Given the description of an element on the screen output the (x, y) to click on. 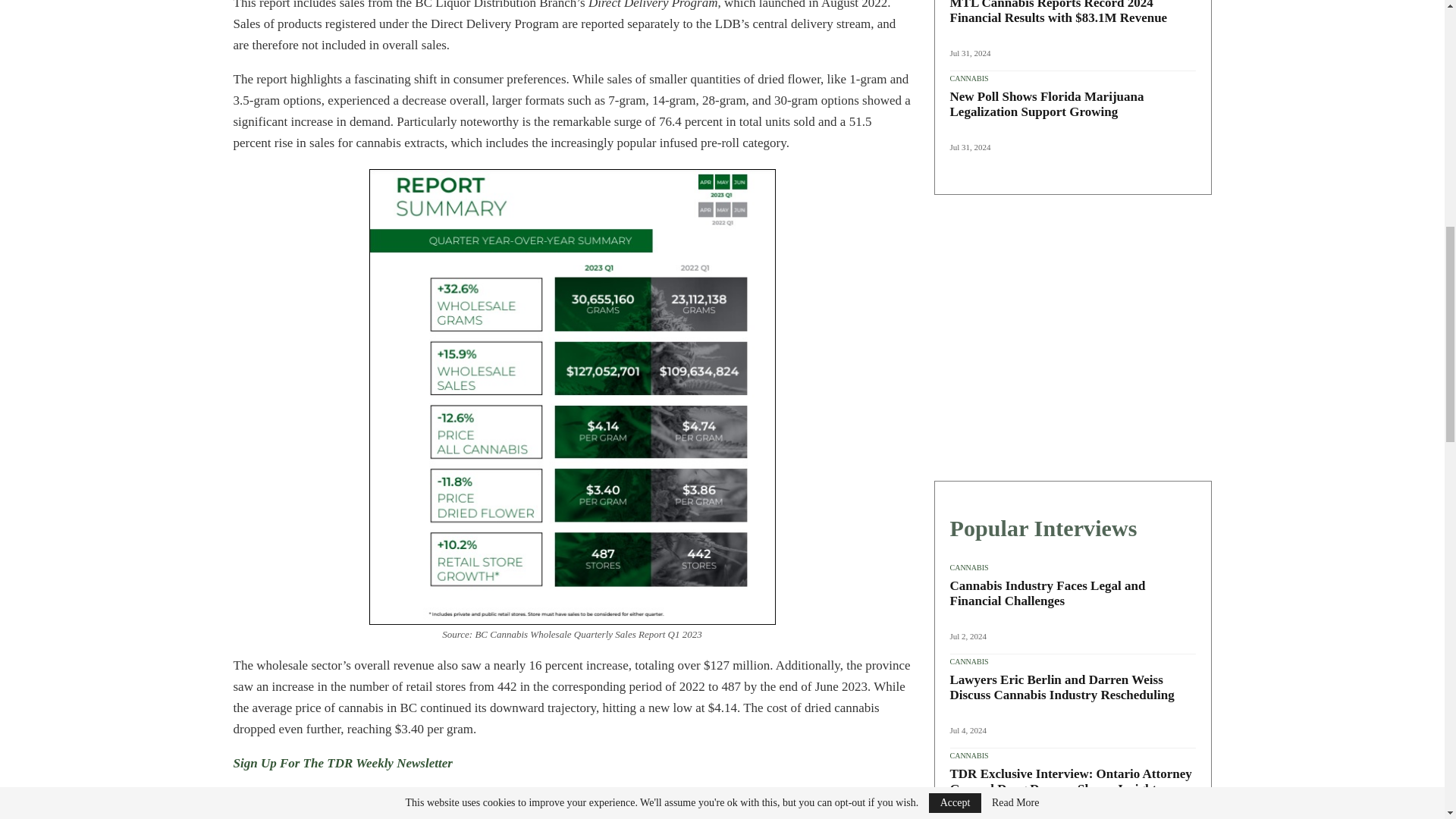
Sign Up For The TDR Weekly Newsletter (342, 762)
